Given the description of an element on the screen output the (x, y) to click on. 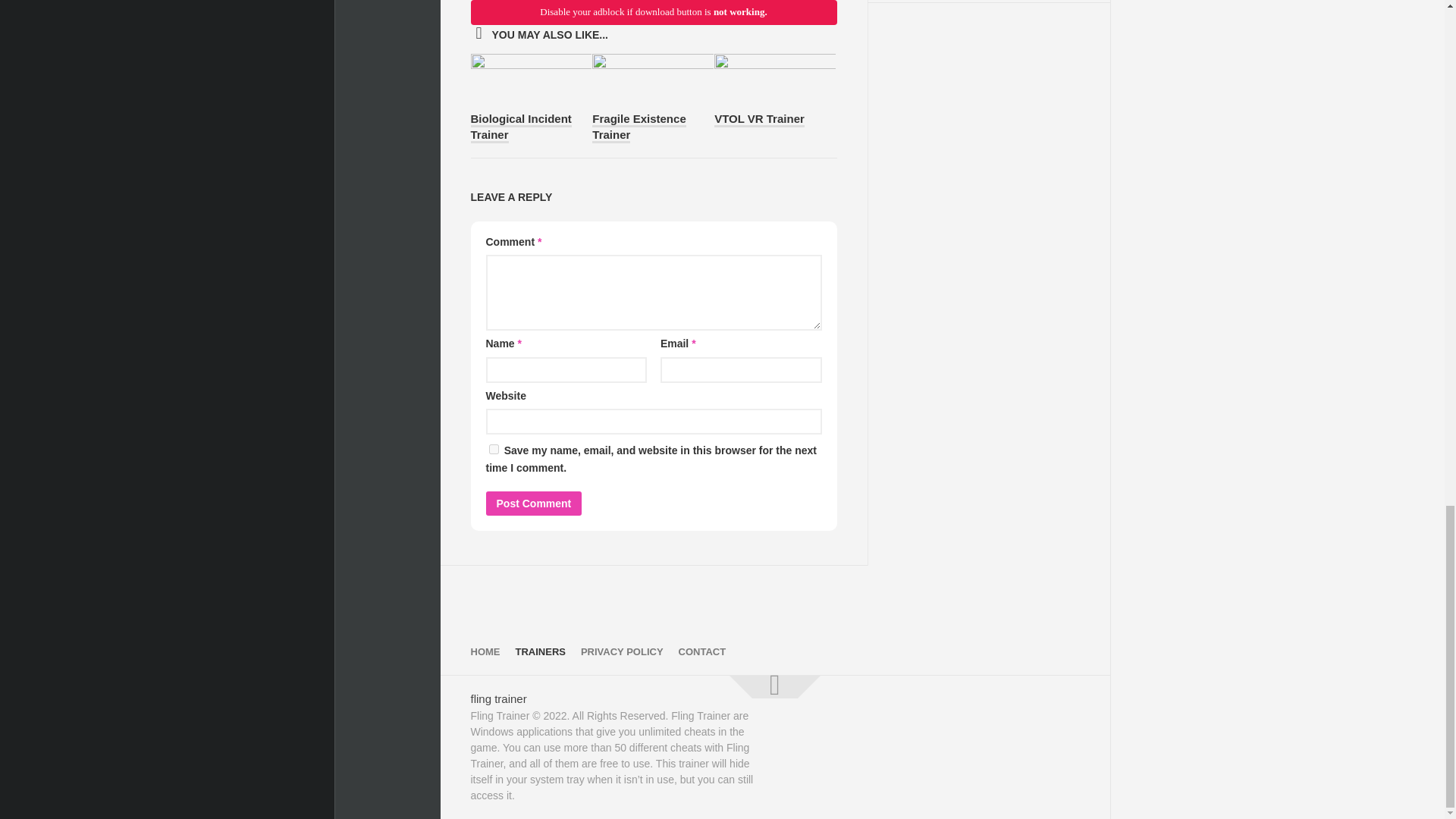
VTOL VR Trainer (759, 119)
yes (492, 449)
Biological Incident Trainer (520, 127)
Fragile Existence Trainer (638, 127)
fling trainer (497, 698)
Post Comment (532, 503)
Post Comment (532, 503)
